Given the description of an element on the screen output the (x, y) to click on. 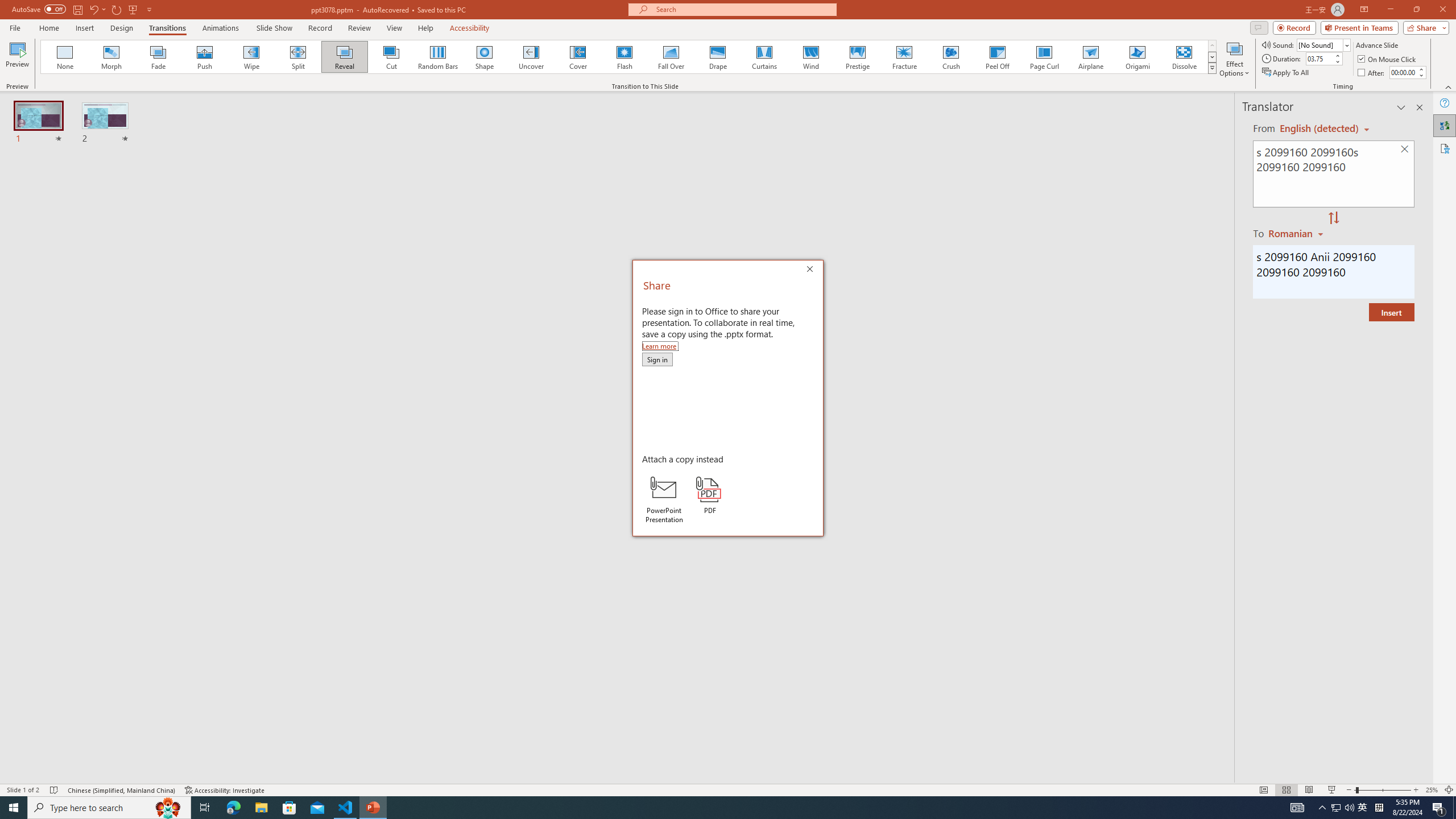
Wipe (251, 56)
Romanian (1296, 232)
After (1403, 72)
Origami (1136, 56)
